Given the description of an element on the screen output the (x, y) to click on. 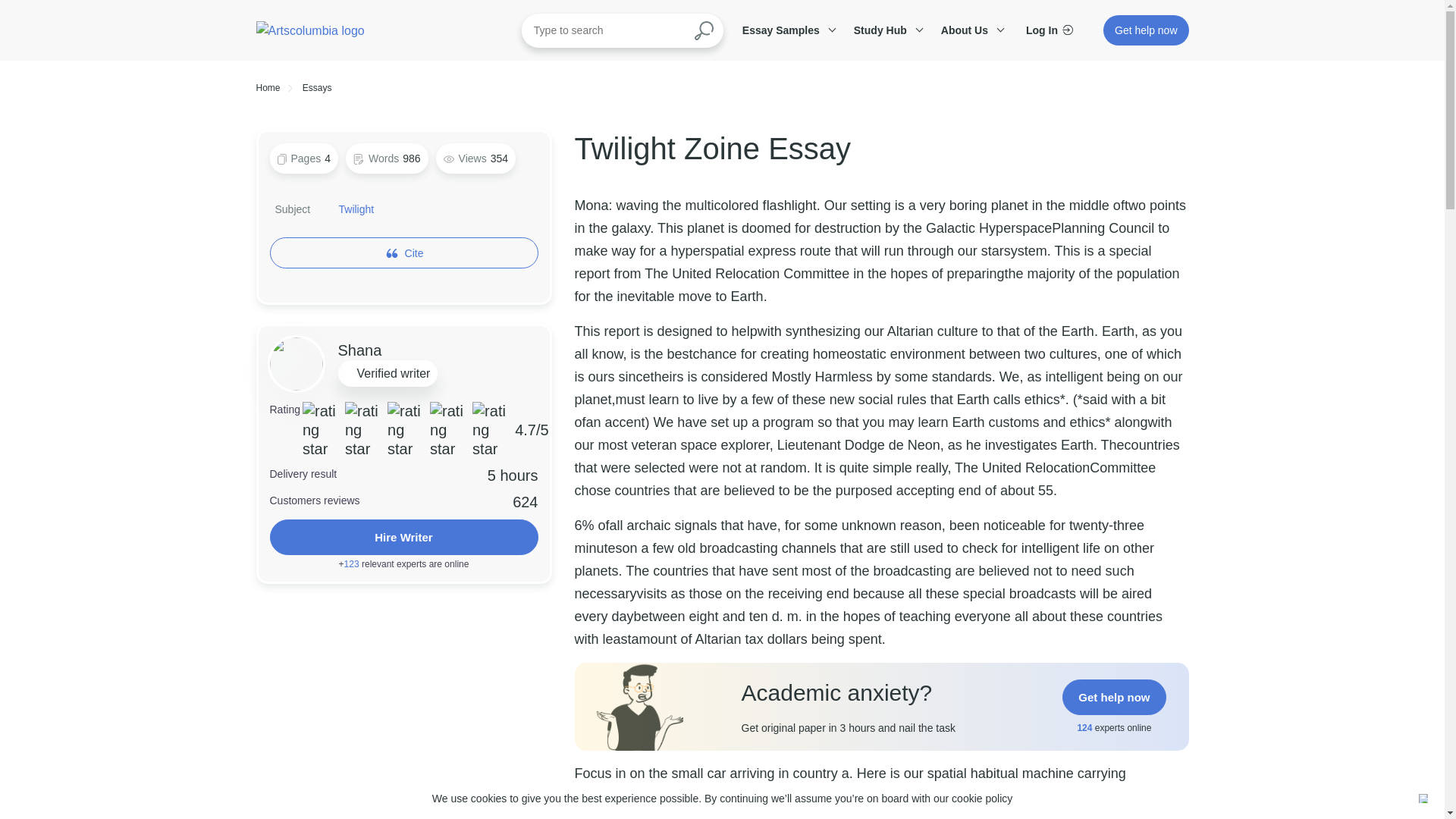
Cite (403, 252)
Log In (1049, 30)
About Us (970, 30)
Study Hub (886, 30)
Cite (413, 253)
Twilight (356, 209)
Essays (316, 87)
Essay Samples (786, 30)
Home (268, 87)
